Given the description of an element on the screen output the (x, y) to click on. 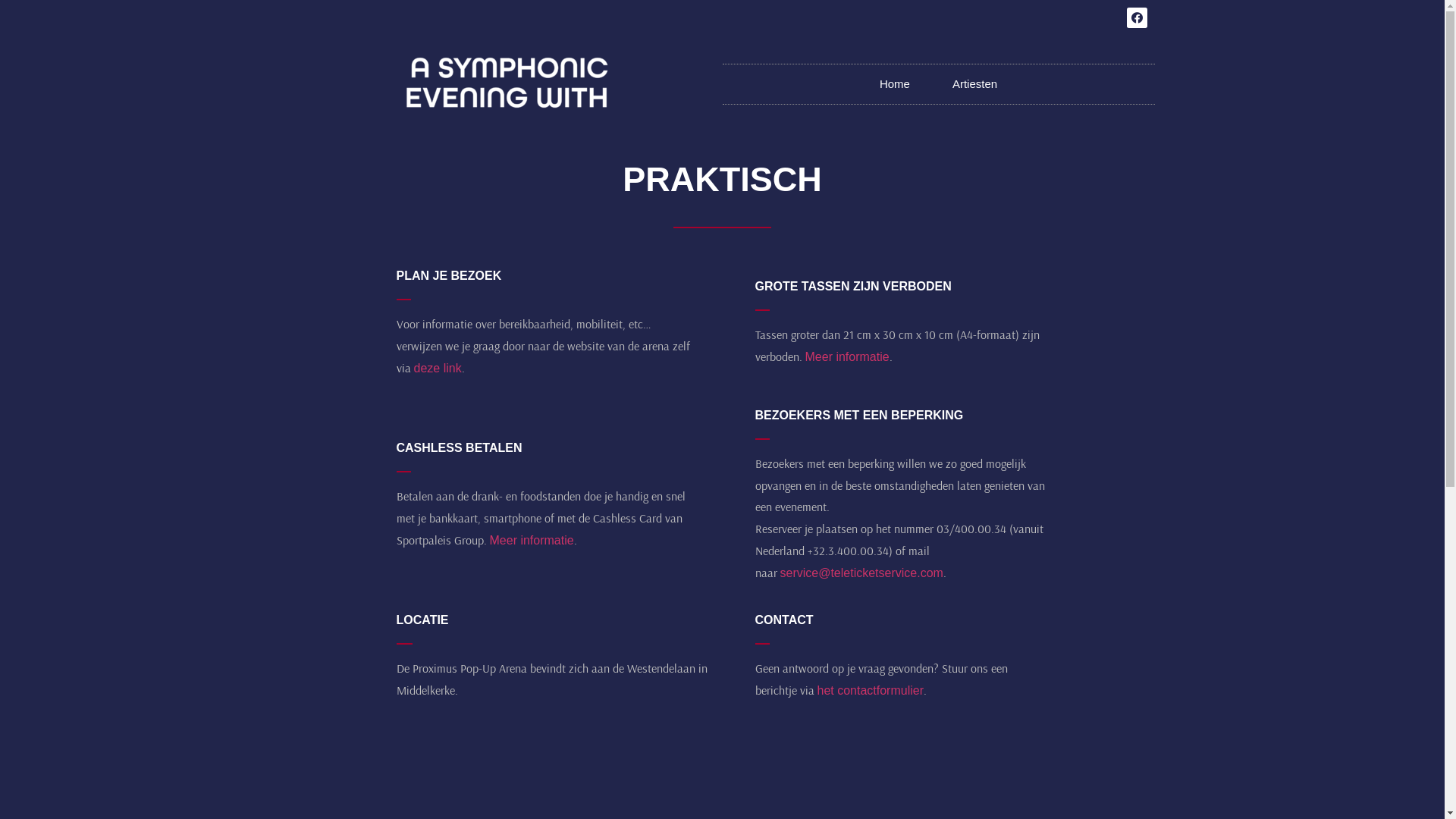
Meer informatie Element type: text (847, 356)
Home Element type: text (894, 83)
service@teleticketservice.com Element type: text (860, 572)
Artiesten Element type: text (974, 83)
CONTACT Element type: text (784, 619)
deze link Element type: text (437, 367)
het contactformulier Element type: text (870, 690)
Meer informatie Element type: text (531, 539)
